Given the description of an element on the screen output the (x, y) to click on. 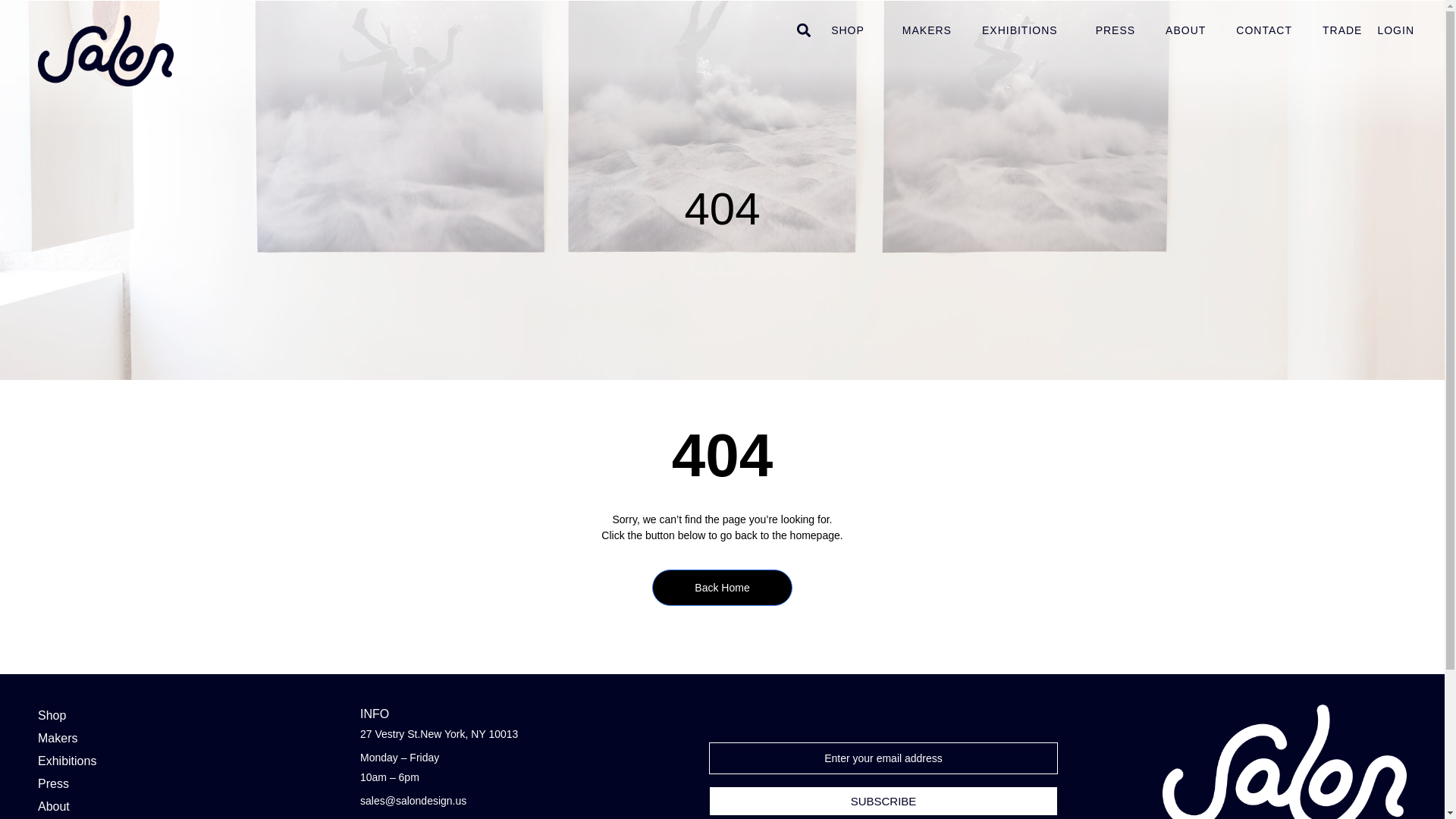
PRESS (1115, 30)
MAKERS (926, 30)
CONTACT (1264, 30)
Subscribe (883, 800)
TRADE (1342, 30)
EXHIBITIONS (1023, 30)
ABOUT (1185, 30)
SHOP (850, 30)
